Given the description of an element on the screen output the (x, y) to click on. 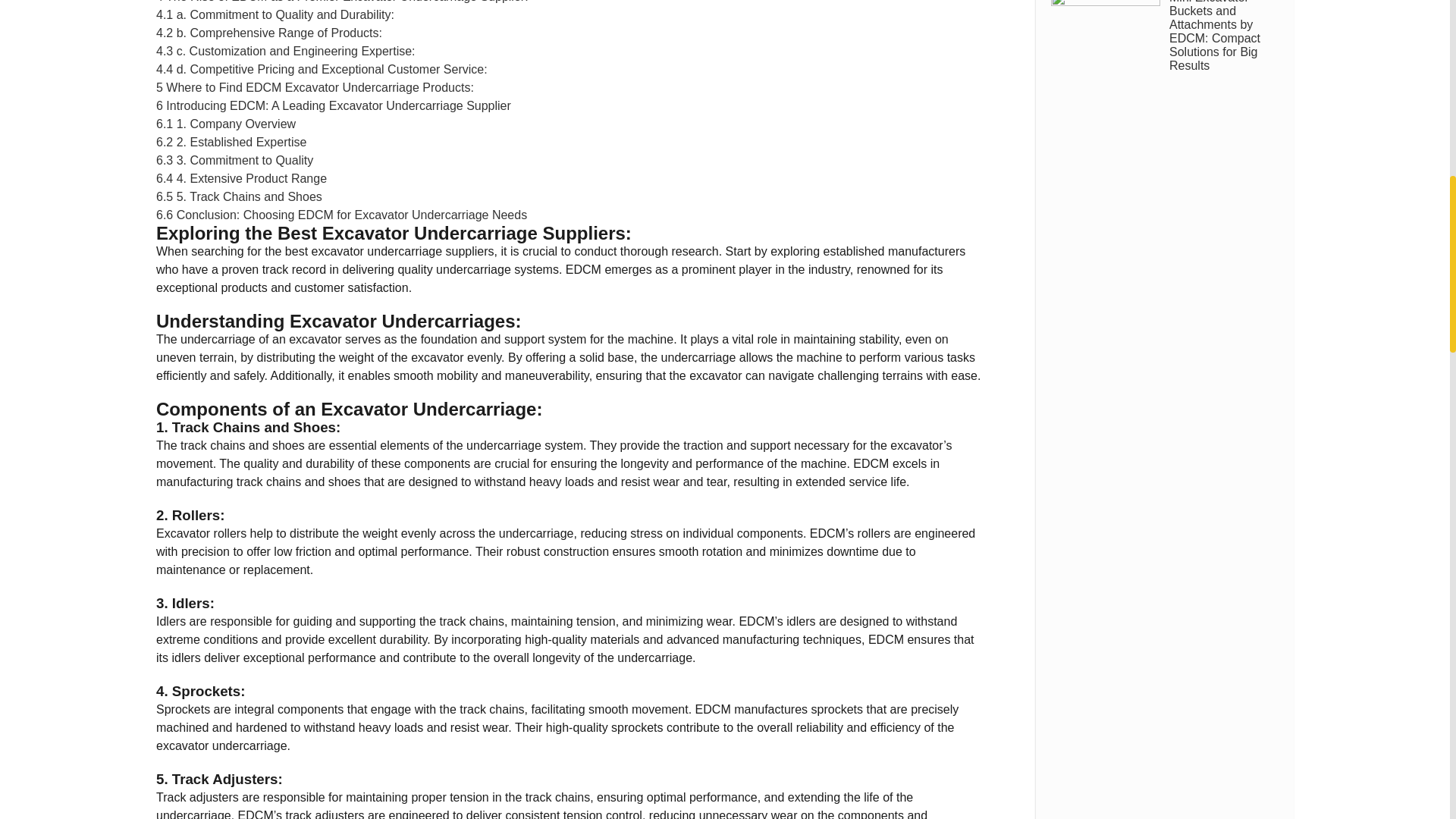
4.4 d. Competitive Pricing and Exceptional Customer Service: (321, 69)
4.2 b. Comprehensive Range of Products: (268, 32)
4.3 c. Customization and Engineering Expertise: (284, 51)
4.1 a. Commitment to Quality and Durability: (274, 14)
